Given the description of an element on the screen output the (x, y) to click on. 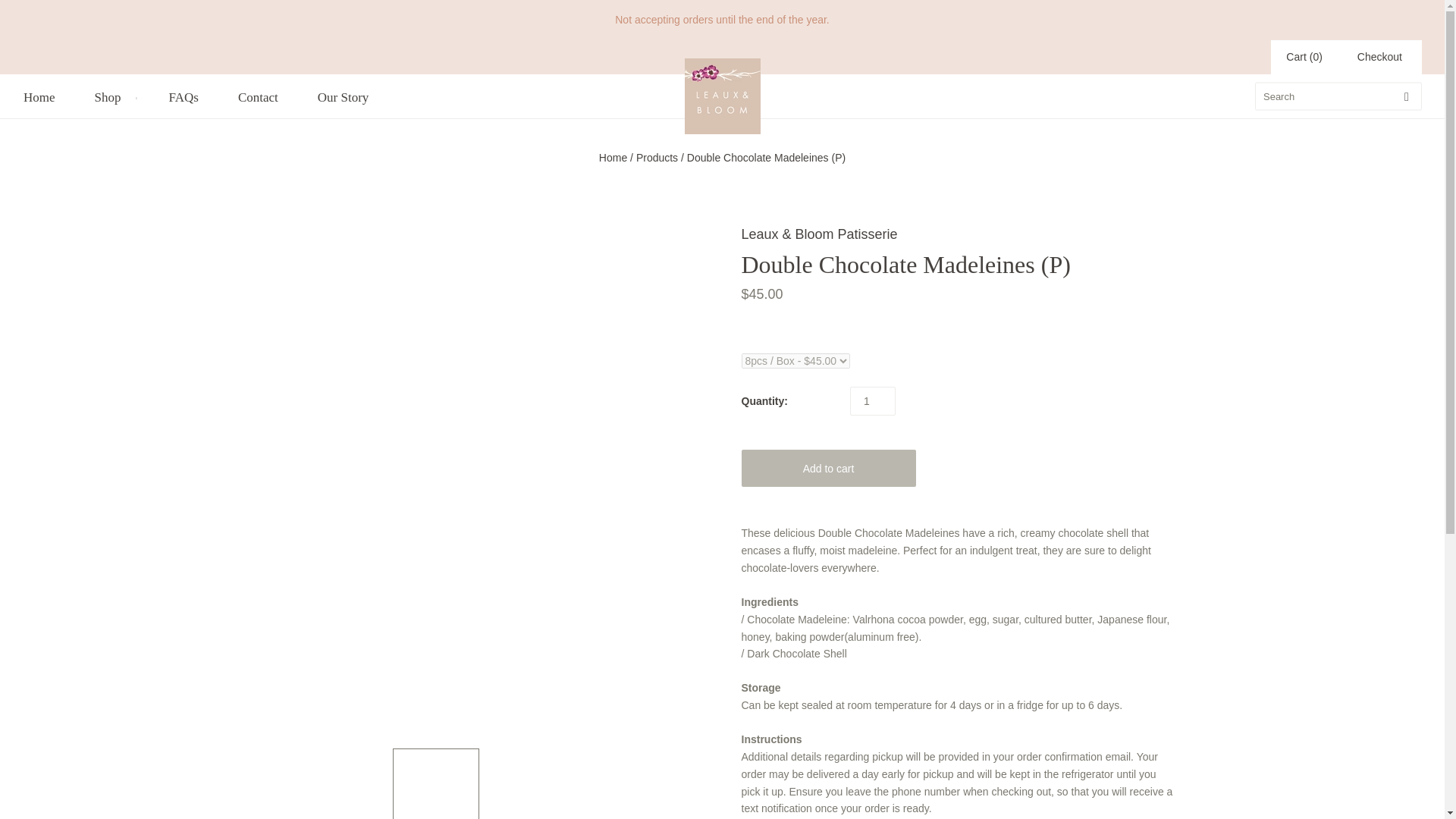
FAQs (183, 97)
Not accepting orders until the end of the year. (722, 20)
Add to cart (828, 467)
Our Story (343, 97)
1 (871, 400)
Add to cart (828, 467)
Home (612, 157)
Home (39, 97)
Checkout (1379, 57)
Contact (258, 97)
